Given the description of an element on the screen output the (x, y) to click on. 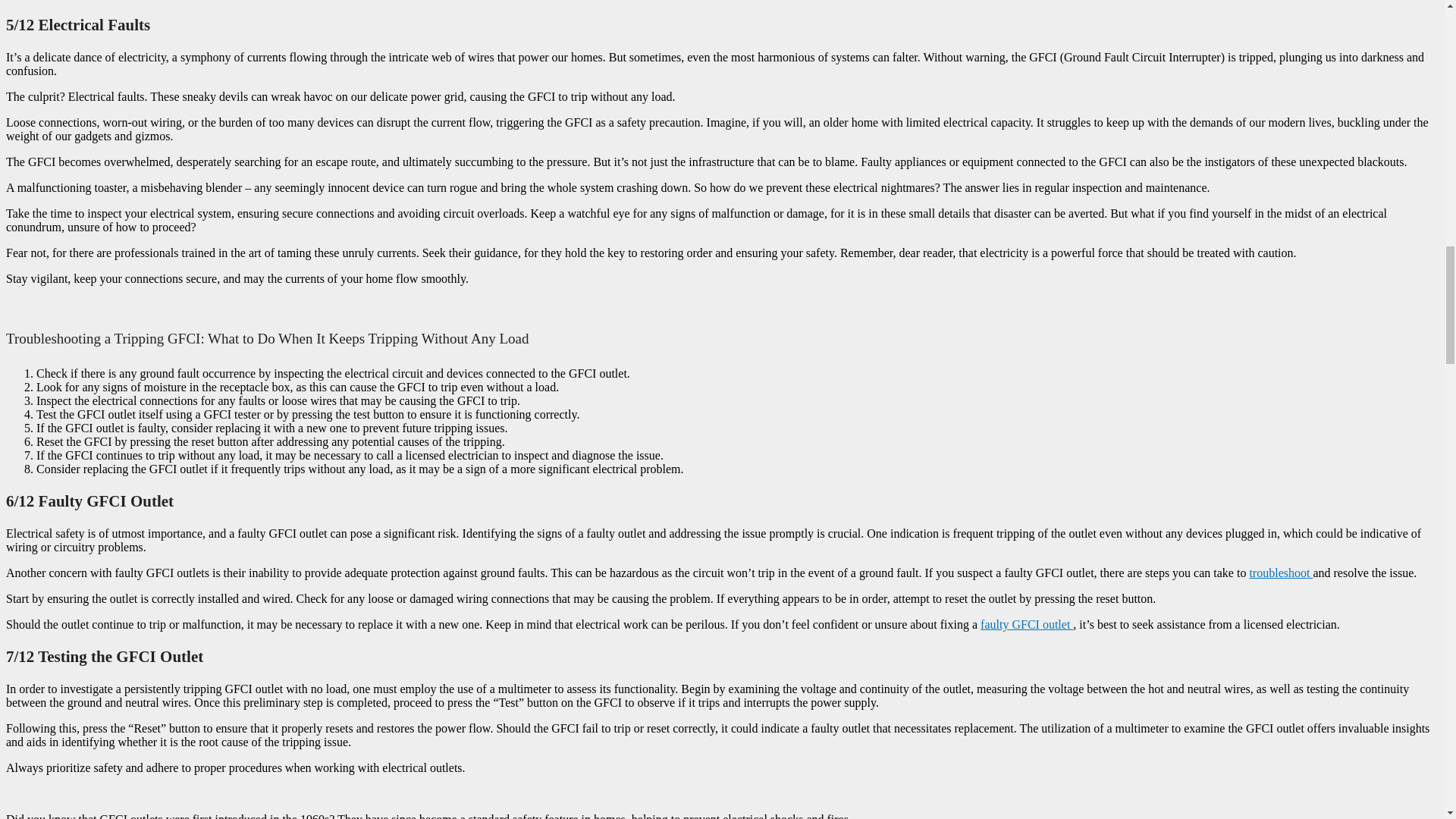
troubleshoot (1281, 572)
faulty GFCI outlet (1026, 624)
